Given the description of an element on the screen output the (x, y) to click on. 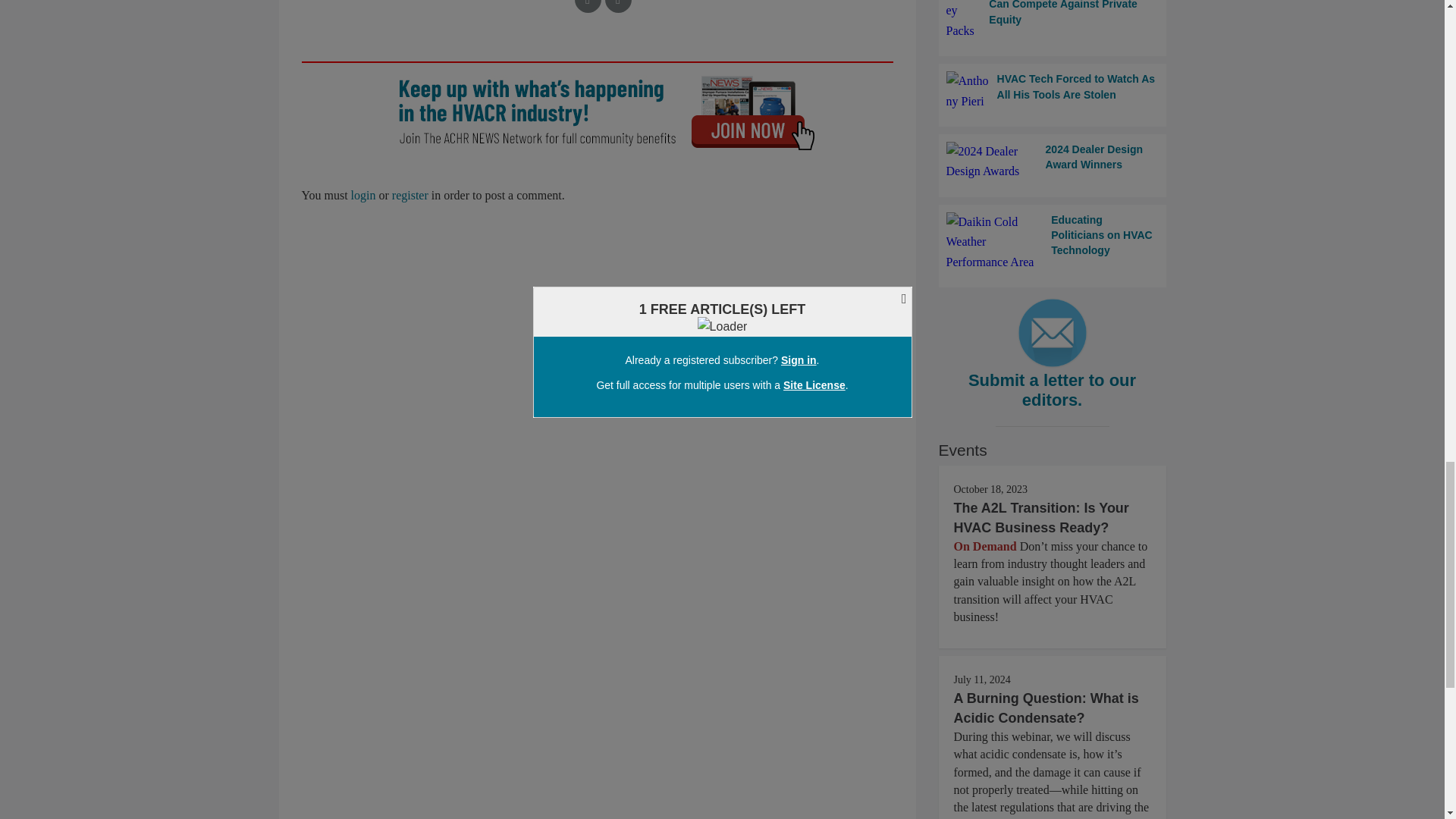
Educating Politicians on HVAC Technology (1052, 241)
The A2L Transition: Is Your HVAC Business Ready? (1041, 517)
A Burning Question: What is Acidic Condensate? (1045, 708)
2024 Dealer Design Award Winners (1052, 161)
HVAC Tech Forced to Watch As All His Tools Are Stolen (1052, 91)
